Given the description of an element on the screen output the (x, y) to click on. 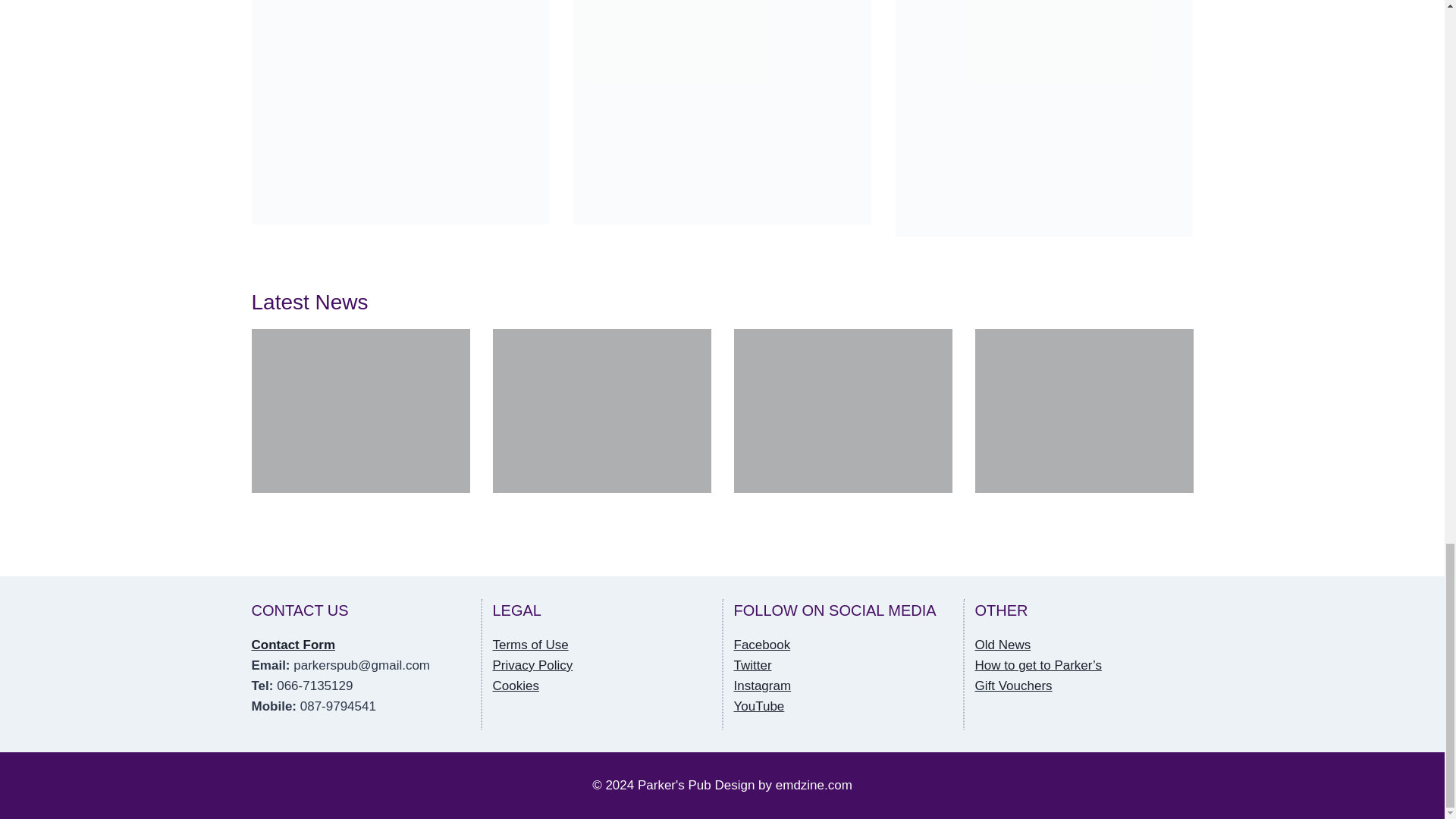
Contact Form (293, 644)
Facebook (761, 644)
Privacy Policy (533, 665)
Terms of Use (531, 644)
Cookies (515, 685)
